Given the description of an element on the screen output the (x, y) to click on. 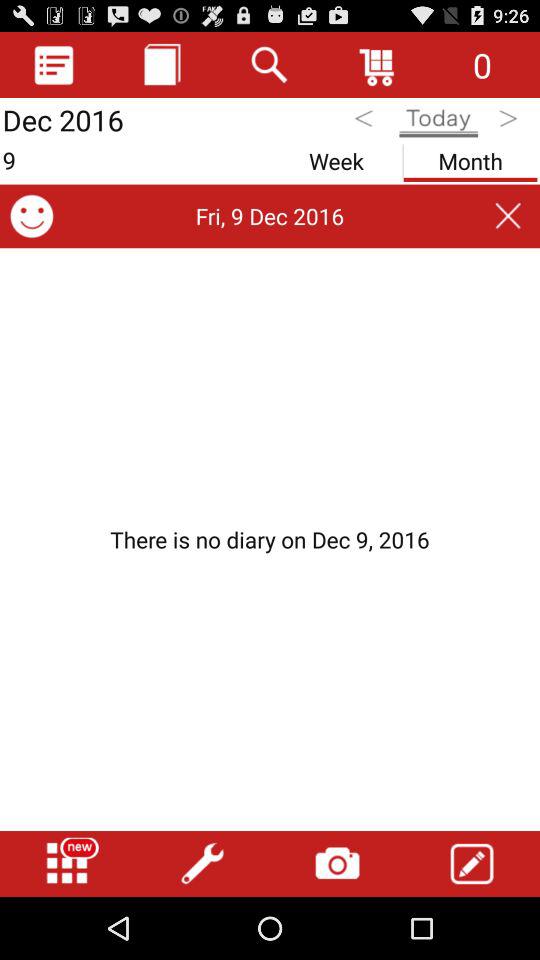
edit (472, 863)
